Given the description of an element on the screen output the (x, y) to click on. 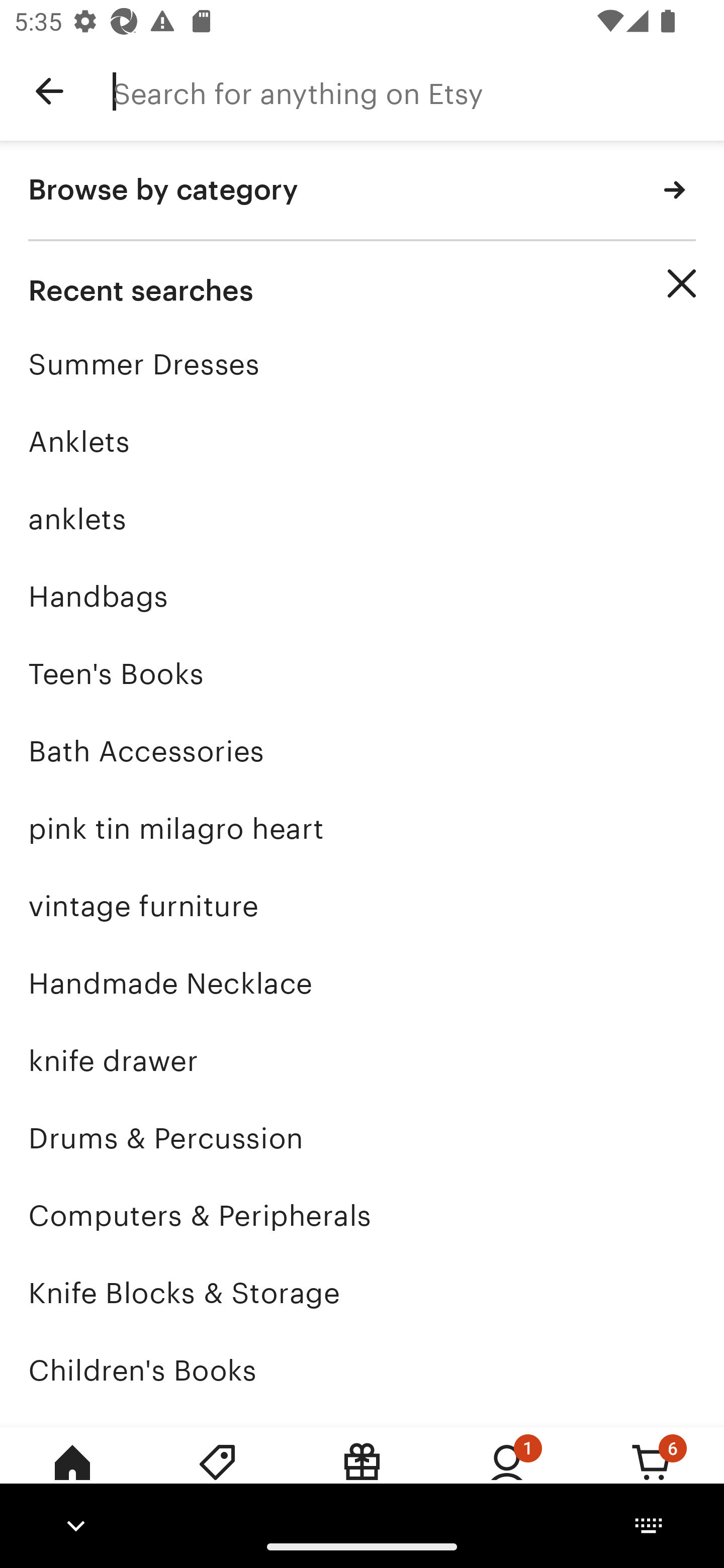
Navigate up (49, 91)
Search for anything on Etsy (418, 91)
Browse by category (362, 191)
Clear (681, 283)
Summer Dresses (362, 364)
Anklets (362, 440)
anklets (362, 518)
Handbags (362, 596)
Teen's Books (362, 673)
Bath Accessories (362, 750)
pink tin milagro heart (362, 828)
vintage furniture (362, 906)
Handmade Necklace (362, 983)
knife drawer (362, 1060)
Drums & Percussion (362, 1138)
Computers & Peripherals (362, 1215)
Knife Blocks & Storage (362, 1292)
Children's Books (362, 1370)
Deals (216, 1475)
Gift Mode (361, 1475)
You, 1 new notification (506, 1475)
Cart, 6 new notifications (651, 1475)
